Given the description of an element on the screen output the (x, y) to click on. 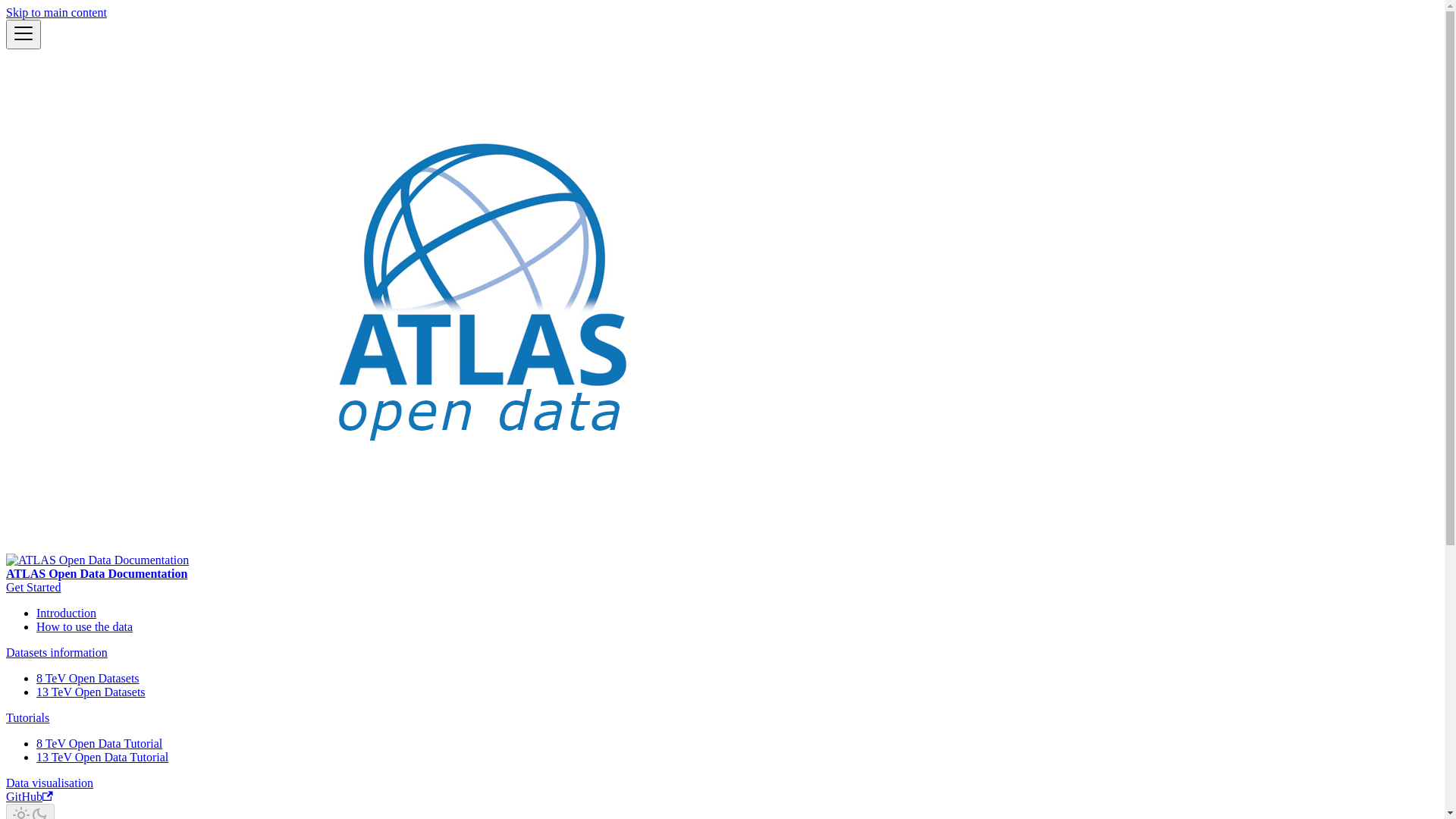
8 TeV Open Datasets Element type: text (87, 677)
ATLAS Open Data Documentation Element type: text (722, 322)
Datasets information Element type: text (56, 652)
13 TeV Open Datasets Element type: text (90, 691)
Introduction Element type: text (66, 612)
GitHub Element type: text (29, 796)
Data visualisation Element type: text (49, 782)
Get Started Element type: text (33, 586)
How to use the data Element type: text (84, 626)
8 TeV Open Data Tutorial Element type: text (99, 743)
Tutorials Element type: text (27, 717)
13 TeV Open Data Tutorial Element type: text (102, 756)
Skip to main content Element type: text (56, 12)
